Given the description of an element on the screen output the (x, y) to click on. 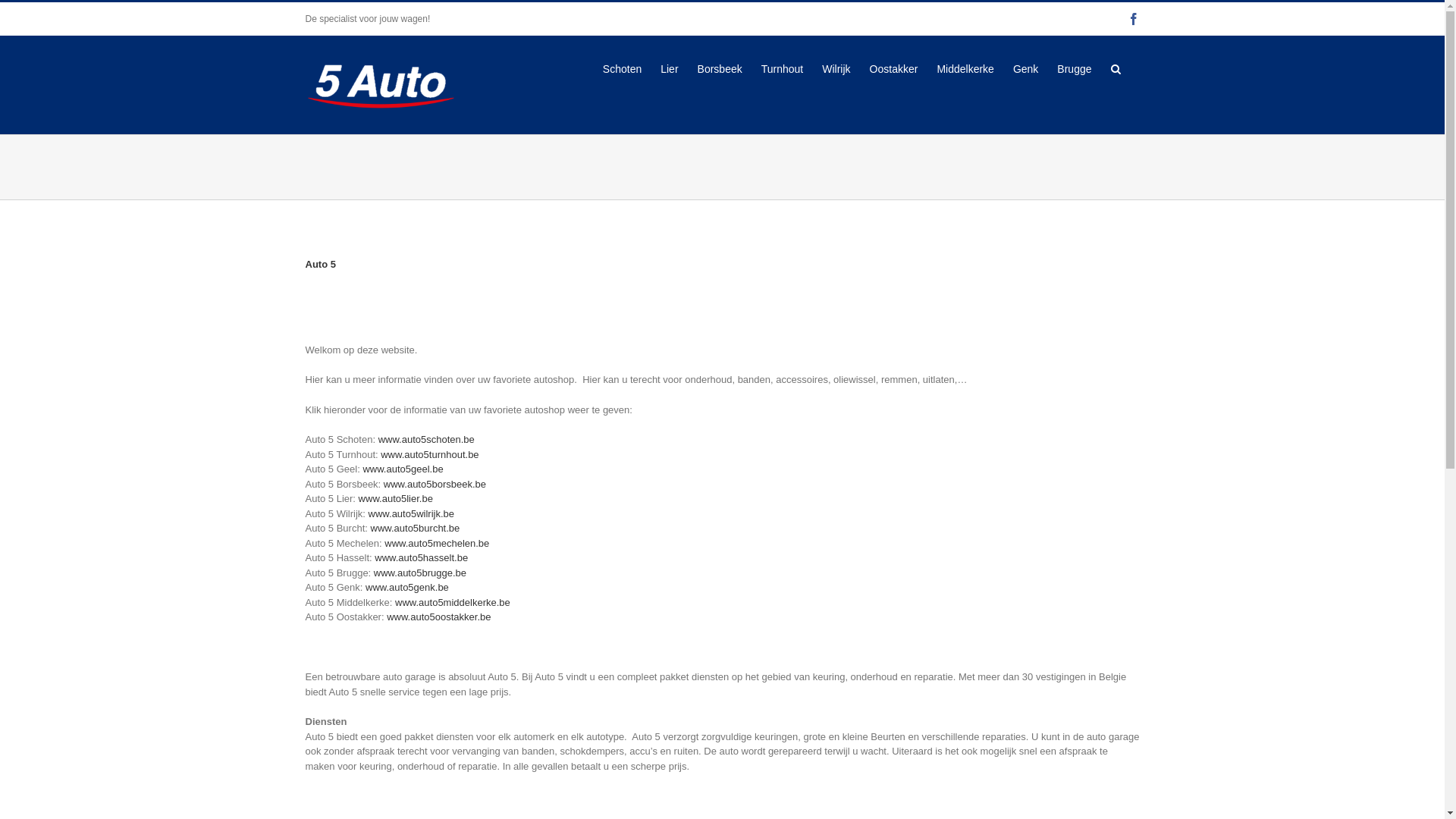
www.auto5middelkerke.be Element type: text (452, 601)
Schoten Element type: text (621, 68)
Genk Element type: text (1025, 68)
Turnhout Element type: text (782, 68)
www.auto5schoten.be Element type: text (426, 439)
www.auto5borsbeek.be Element type: text (434, 483)
www.auto5genk.be Element type: text (406, 587)
www.auto5mechelen.be Element type: text (436, 542)
Advertisement Element type: hover (721, 309)
Auto 5 Element type: text (319, 263)
www.auto5lier.be Element type: text (395, 498)
www.auto5oostakker.be Element type: text (438, 616)
Middelkerke Element type: text (964, 68)
www.auto5geel.be Element type: text (402, 468)
Advertisement Element type: hover (580, 164)
Facebook Element type: text (1132, 18)
www.auto5burcht.be Element type: text (414, 527)
Brugge Element type: text (1074, 68)
Advertisement Element type: hover (1132, 164)
Borsbeek Element type: text (719, 68)
Lier Element type: text (668, 68)
Wilrijk Element type: text (836, 68)
www.auto5hasselt.be Element type: text (420, 557)
www.auto5turnhout.be Element type: text (429, 454)
Oostakker Element type: text (893, 68)
www.auto5brugge.be Element type: text (419, 572)
Search Element type: hover (1115, 68)
www.auto5wilrijk.be Element type: text (411, 513)
